Given the description of an element on the screen output the (x, y) to click on. 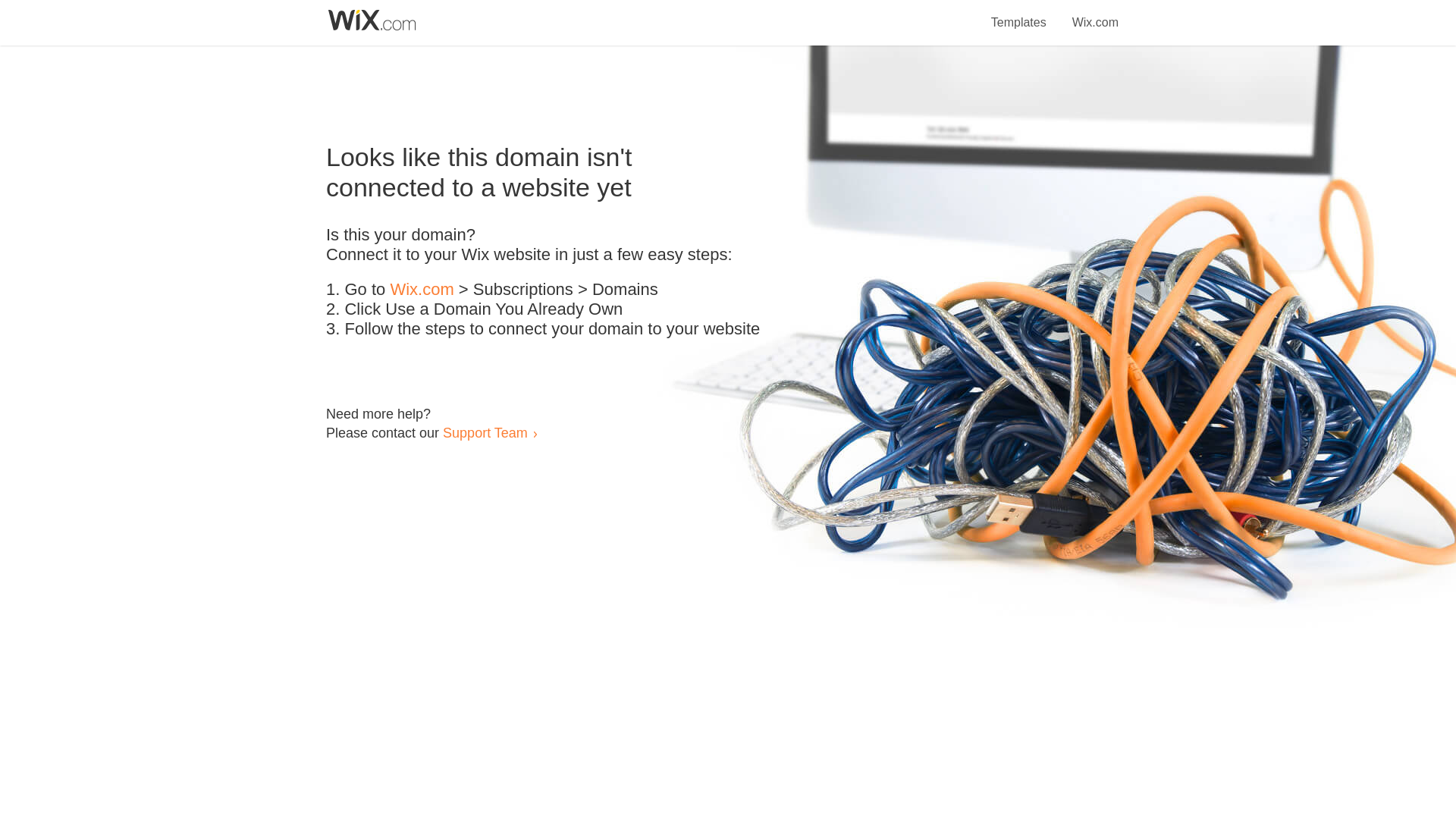
Templates (1018, 14)
Wix.com (421, 289)
Wix.com (1095, 14)
Support Team (484, 432)
